Given the description of an element on the screen output the (x, y) to click on. 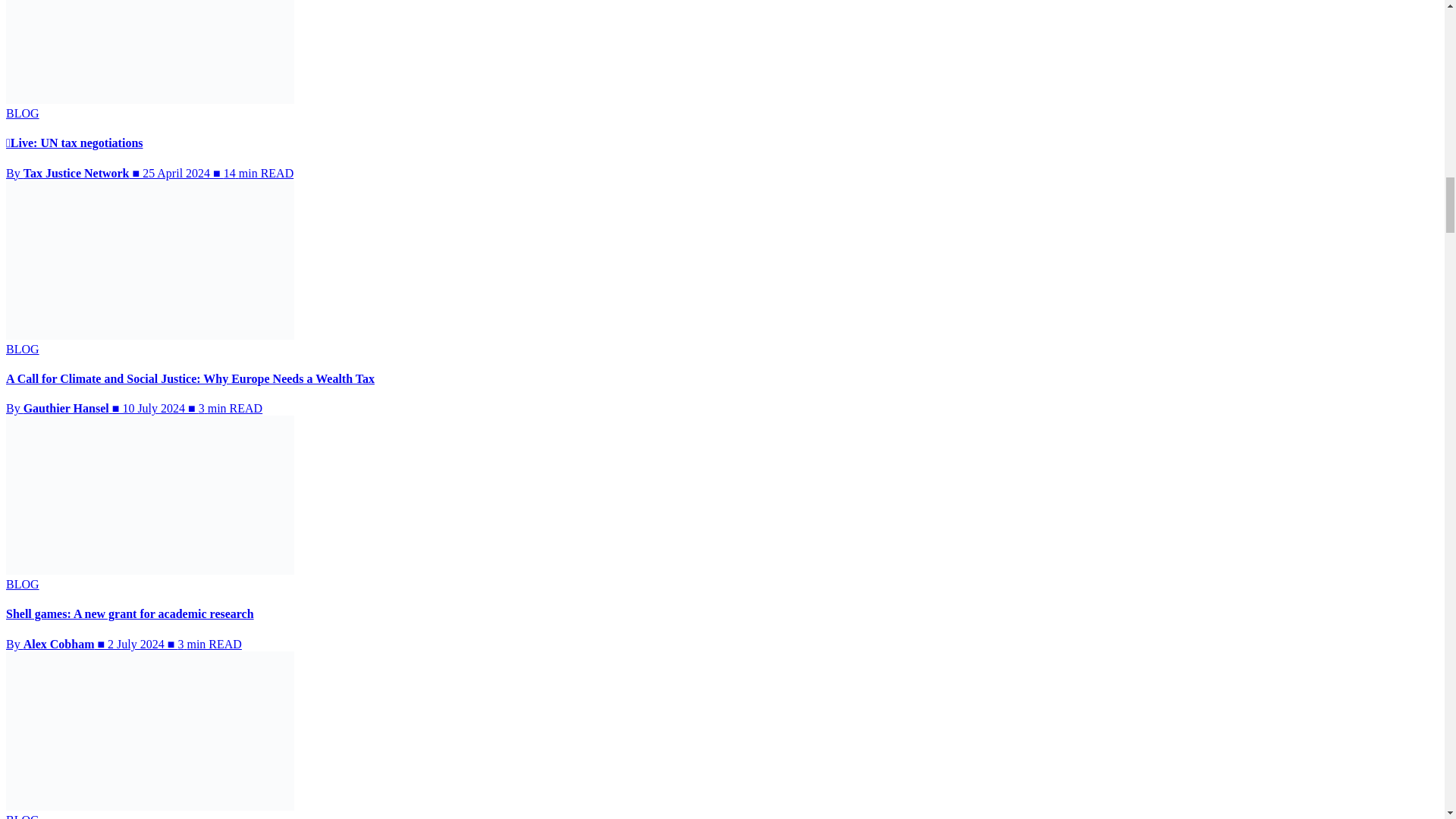
shell games3 (149, 494)
